Given the description of an element on the screen output the (x, y) to click on. 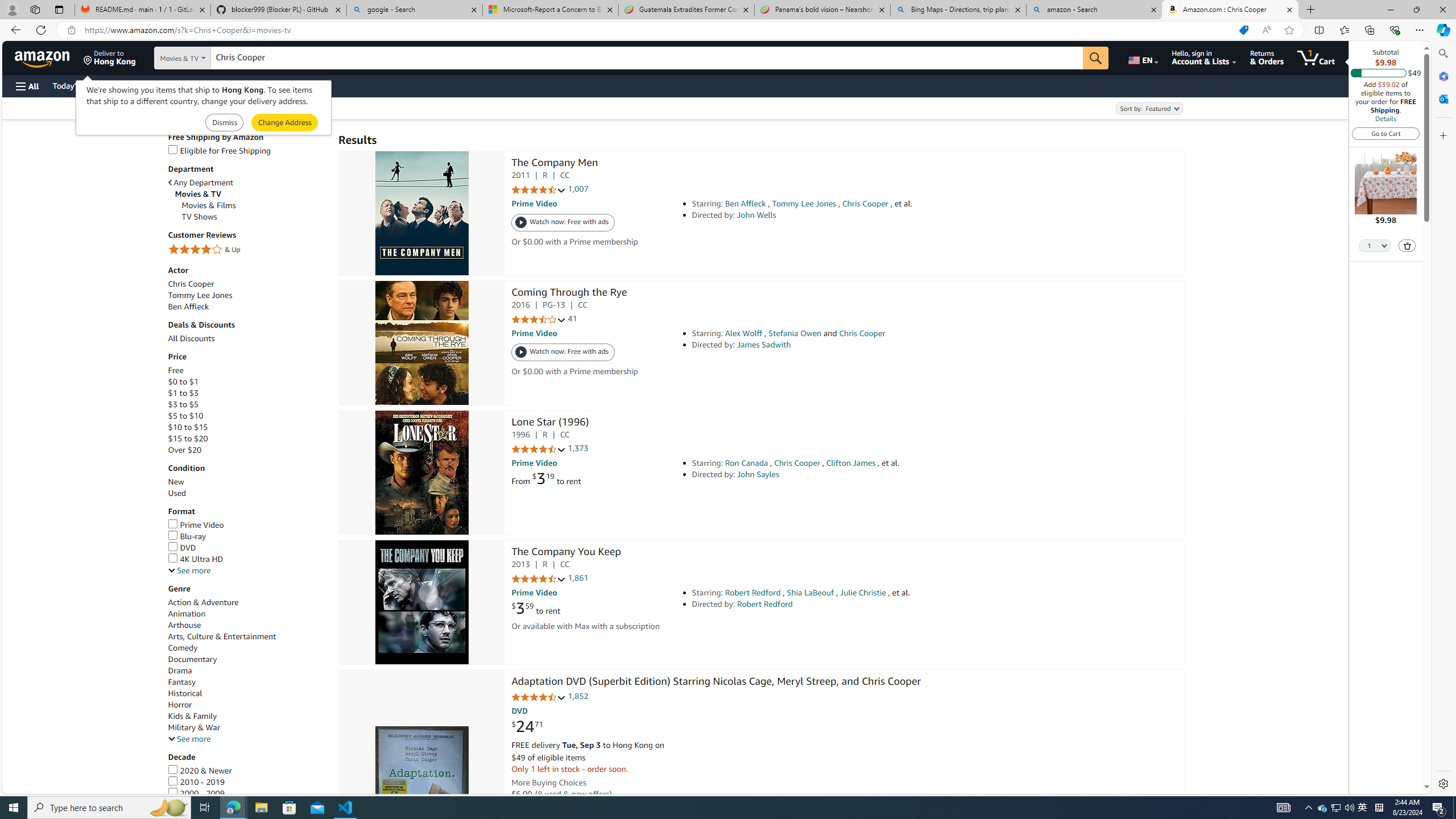
$10 to $15 (187, 426)
Clifton James (850, 462)
$3.59 to rent (535, 608)
Quantity Selector (1374, 245)
TV Shows (199, 216)
The Company Men (421, 213)
Eligible for Free Shipping (218, 150)
41 (571, 318)
Arts, Culture & Entertainment (221, 636)
Kids & Family (247, 716)
Starring: Ron Canada , Chris Cooper , Clifton James , et al. (850, 463)
$0 to $1 (183, 381)
